Given the description of an element on the screen output the (x, y) to click on. 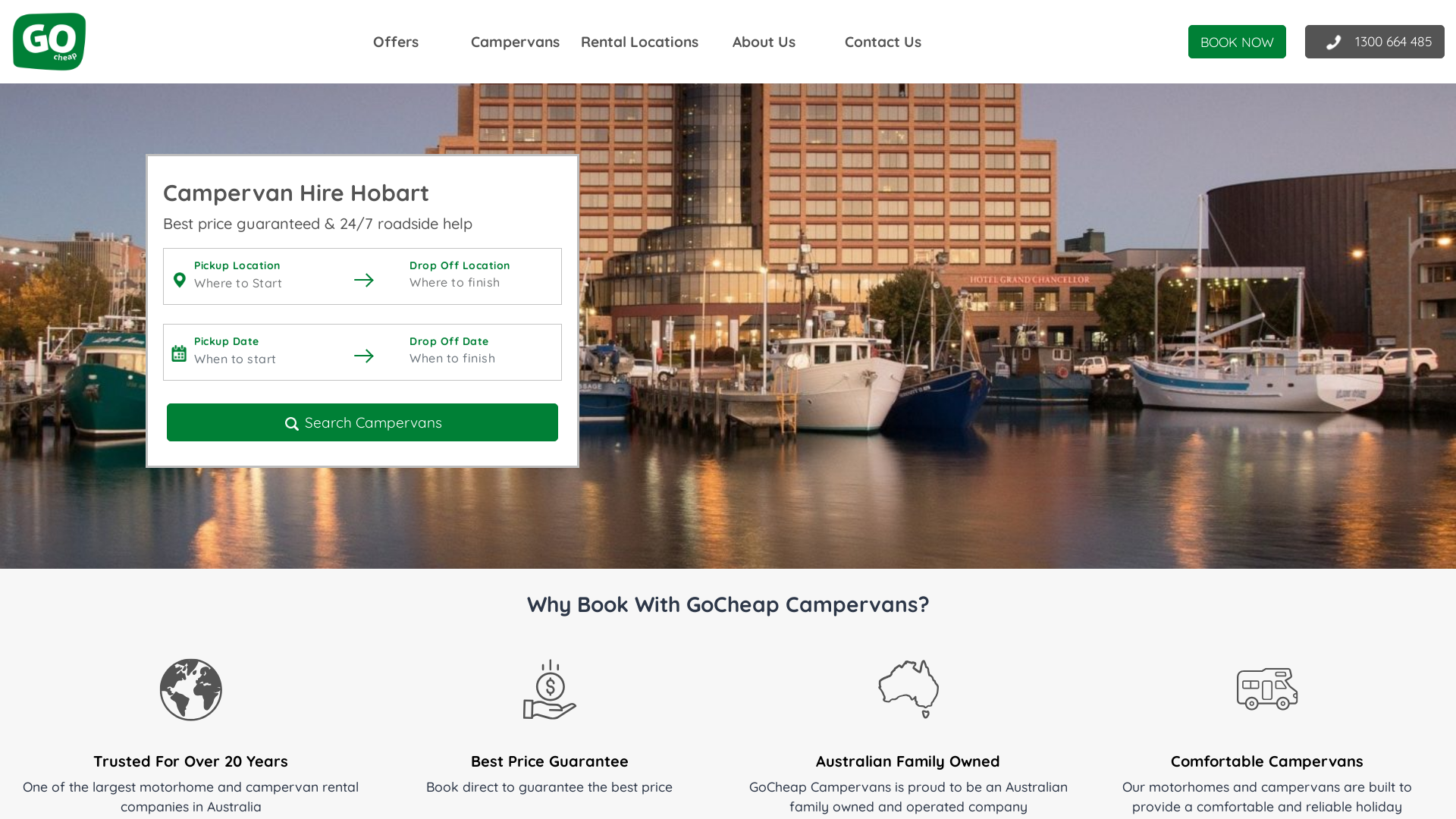
Contact Us Element type: text (882, 42)
BOOK NOW Element type: text (1237, 41)
Rental Locations Element type: text (639, 42)
Campervans Element type: text (514, 42)
About Us Element type: text (763, 42)
Search Campervans Element type: text (362, 422)
1300 664 485 Element type: text (1374, 41)
Offers Element type: text (395, 42)
